Given the description of an element on the screen output the (x, y) to click on. 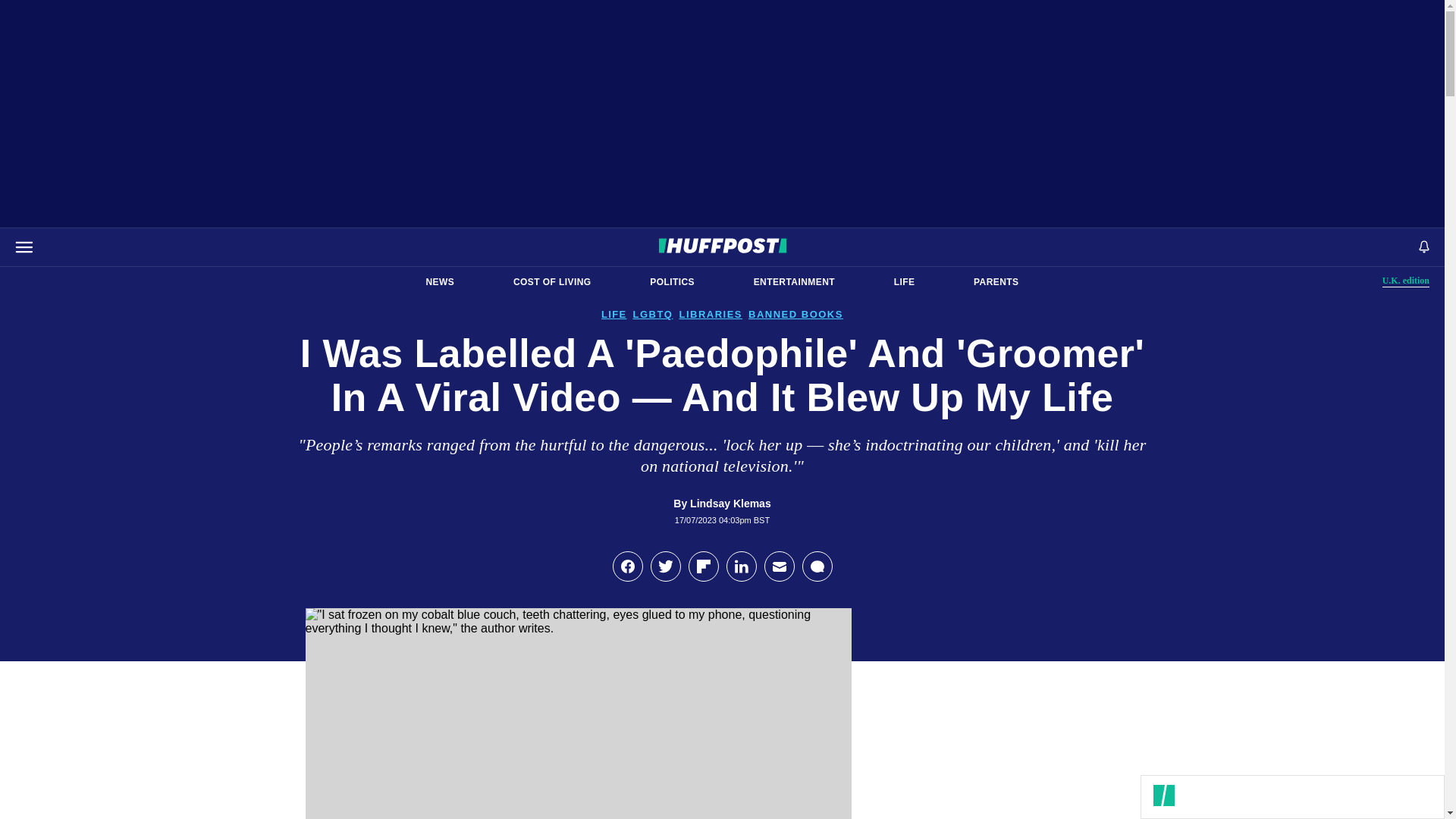
PARENTS (995, 281)
COST OF LIVING (552, 281)
NEWS (440, 281)
ENTERTAINMENT (794, 281)
LIFE (904, 281)
POLITICS (671, 281)
